Given the description of an element on the screen output the (x, y) to click on. 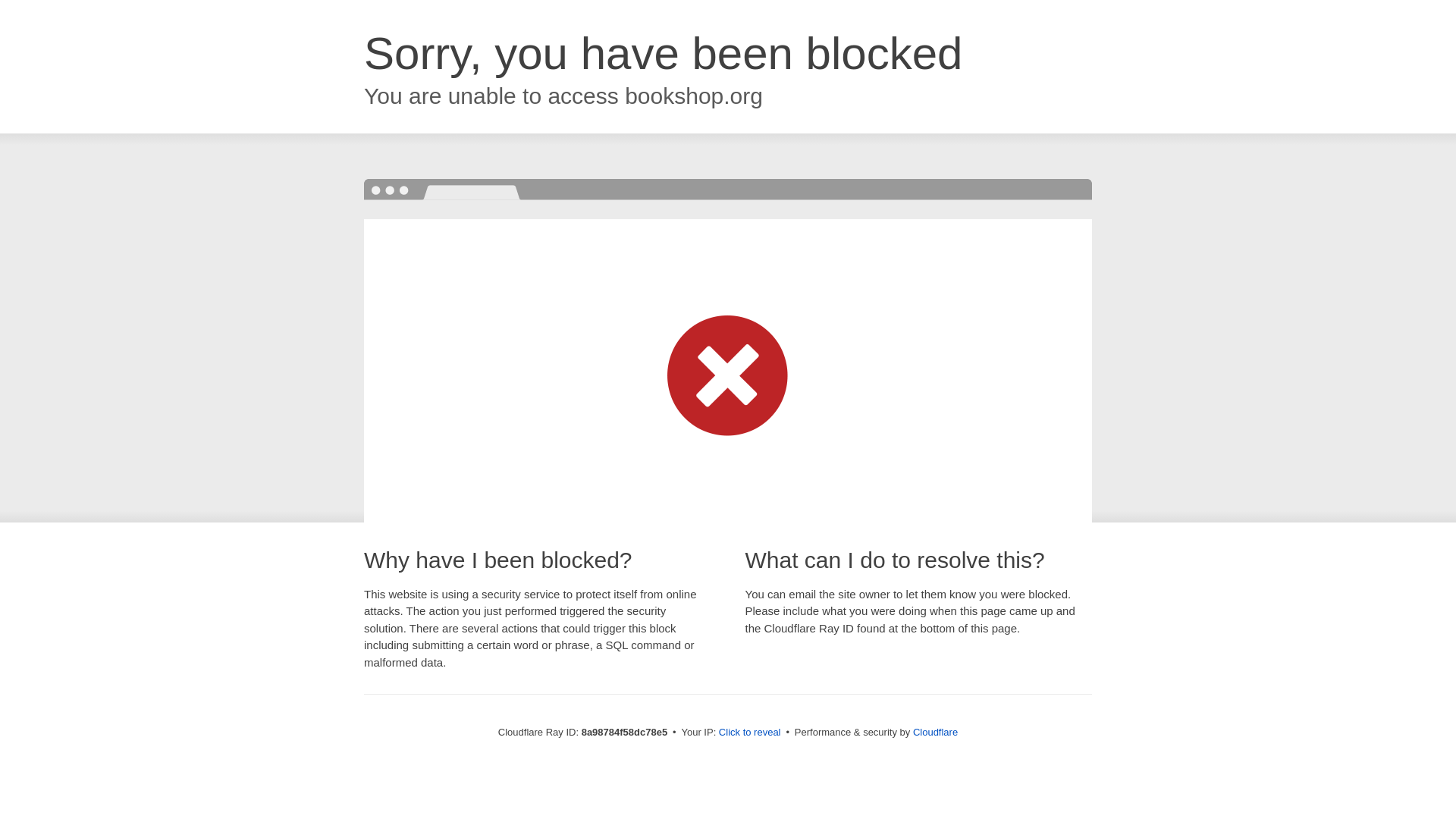
Click to reveal (749, 732)
Cloudflare (935, 731)
